Given the description of an element on the screen output the (x, y) to click on. 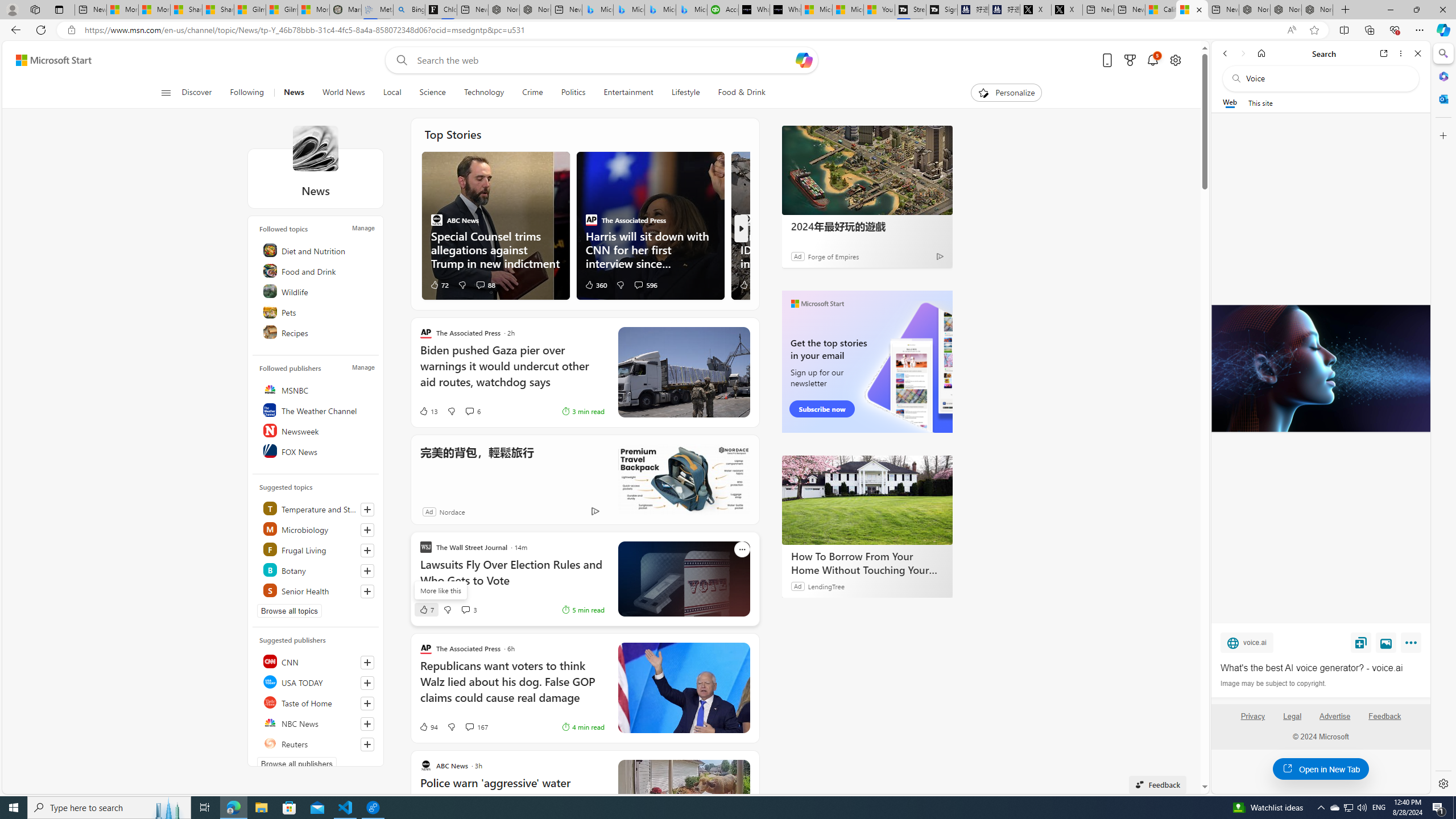
Streaming Coverage | T3 (909, 9)
Advertise (1335, 715)
Follow this topic (367, 591)
Legal (1291, 715)
View comments 3 Comment (465, 609)
Crime (532, 92)
Lifestyle (685, 92)
Crime (531, 92)
Microsoft rewards (1129, 60)
Browse all publishers (296, 763)
